Given the description of an element on the screen output the (x, y) to click on. 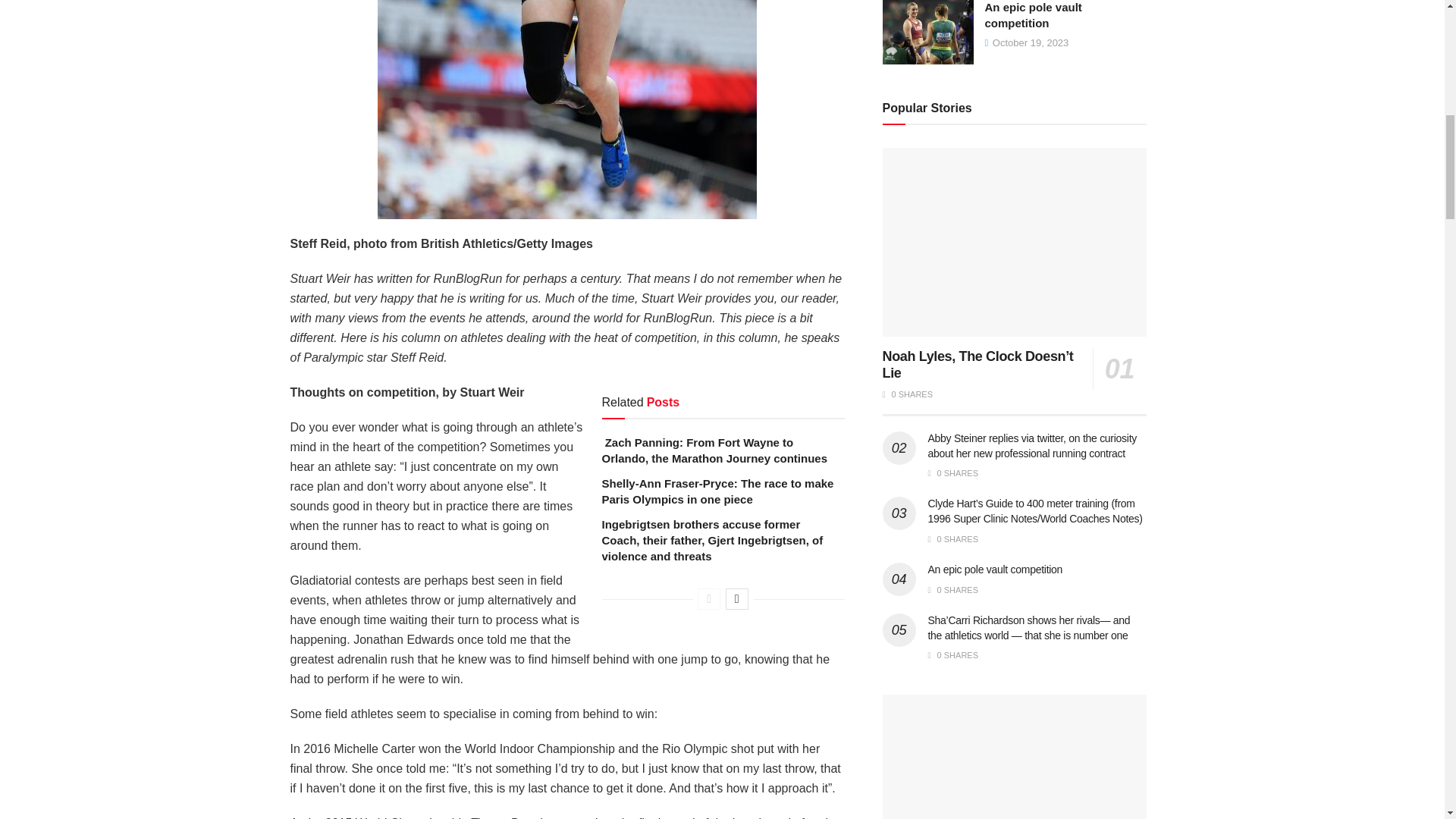
Next (736, 598)
Previous (708, 598)
